Given the description of an element on the screen output the (x, y) to click on. 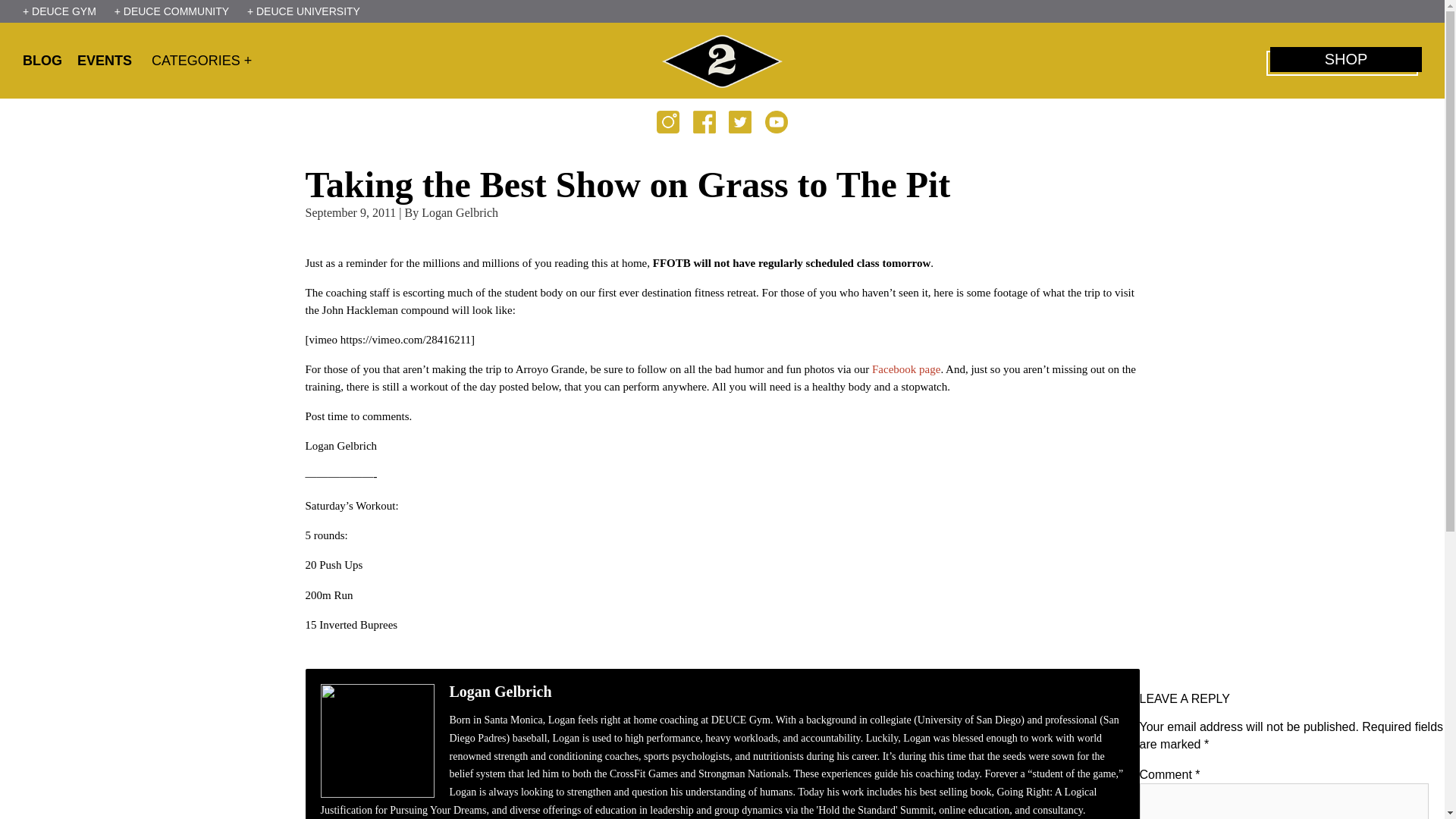
Logan Gelbrich (459, 212)
BLOG (48, 60)
Posts by Logan Gelbrich (459, 212)
SHOP (1345, 59)
Facebook page (906, 369)
EVENTS (109, 60)
Taking the Best Show on Grass to The Pit (627, 184)
Taking the Best Show on Grass to The Pit (627, 184)
